Given the description of an element on the screen output the (x, y) to click on. 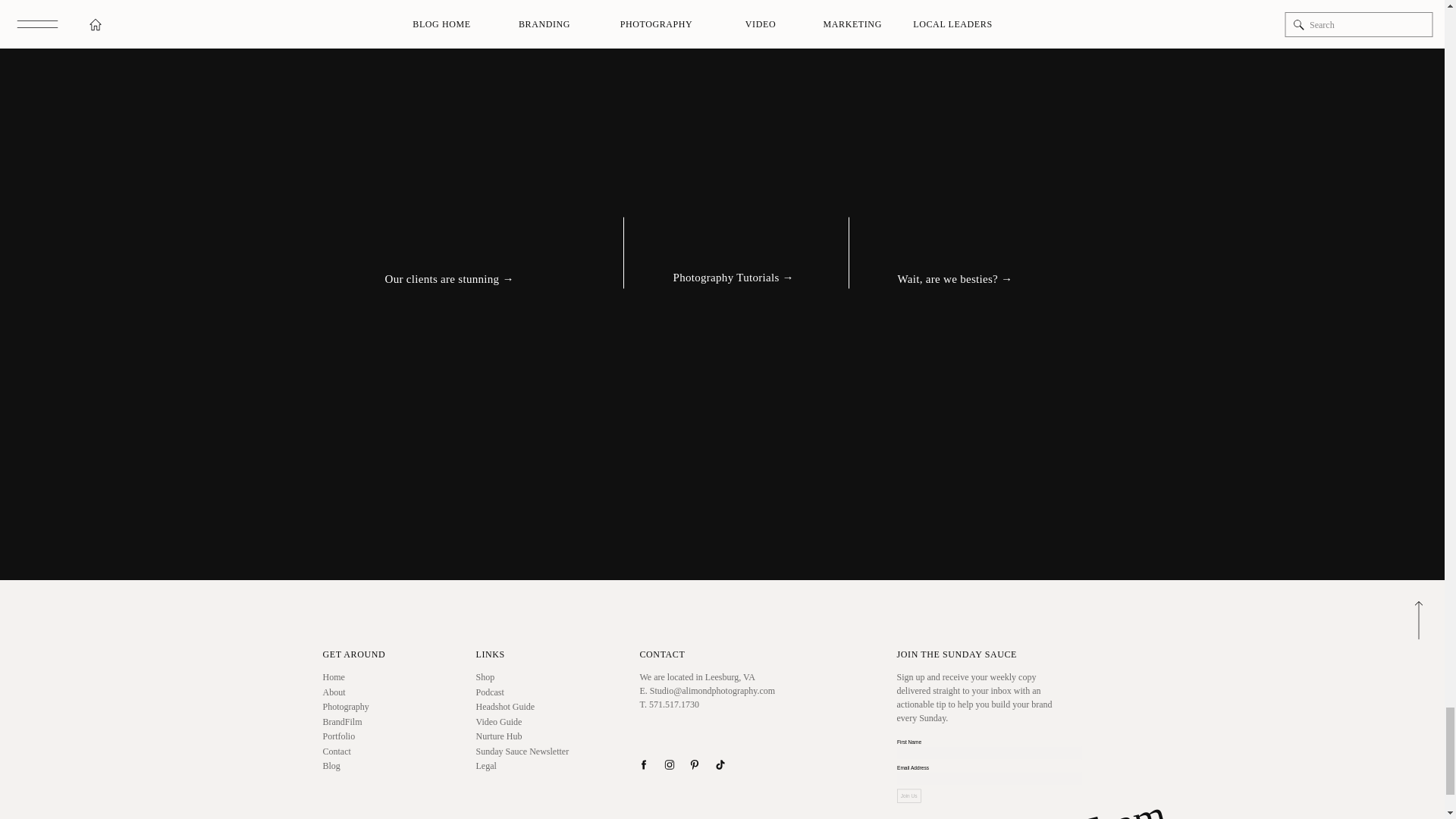
Join Us (921, 803)
